Given the description of an element on the screen output the (x, y) to click on. 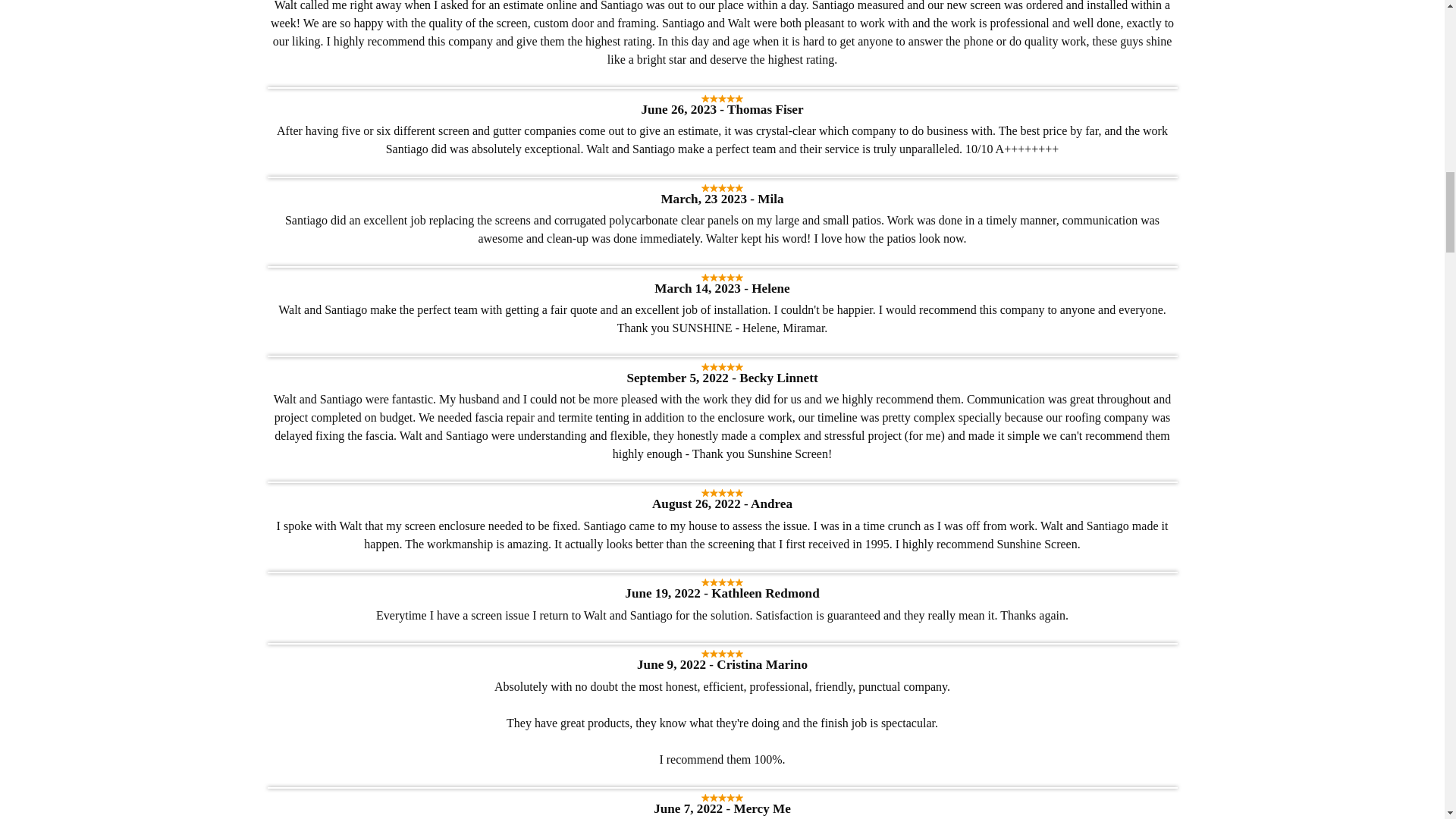
5 Stars (721, 367)
5 Stars (721, 188)
5 Stars (721, 797)
5 Stars (721, 654)
5 Stars (721, 582)
5 Stars (721, 492)
5 Stars (721, 99)
5 Stars (721, 277)
